Given the description of an element on the screen output the (x, y) to click on. 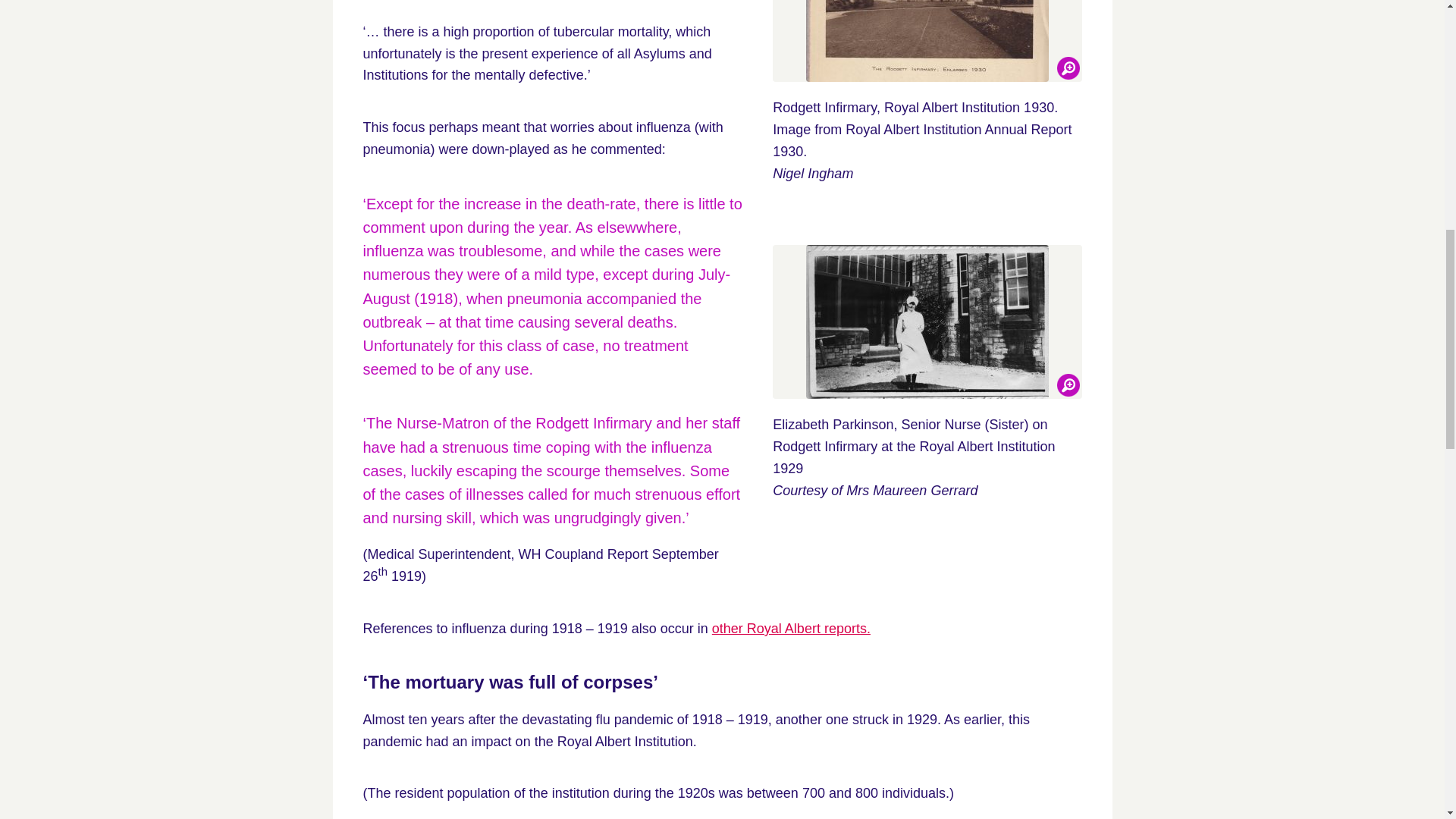
other Royal Albert reports. (790, 628)
18.0014 Rodgett Sister (927, 321)
Rodgett Infirmary RAI 1930 (927, 40)
